Given the description of an element on the screen output the (x, y) to click on. 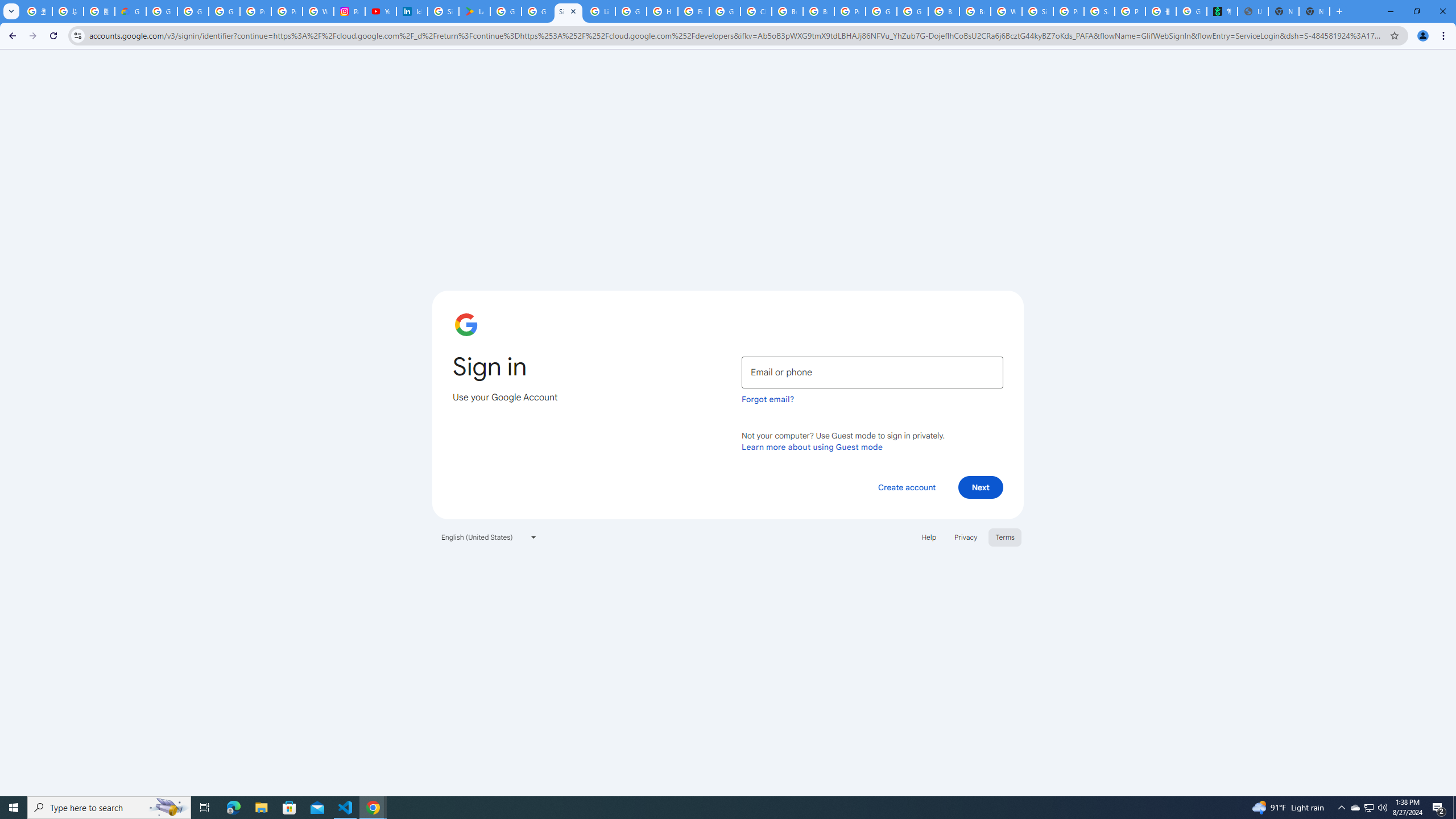
Email or phone (872, 372)
Browse Chrome as a guest - Computer - Google Chrome Help (974, 11)
Last Shelter: Survival - Apps on Google Play (474, 11)
Browse Chrome as a guest - Computer - Google Chrome Help (943, 11)
